Given the description of an element on the screen output the (x, y) to click on. 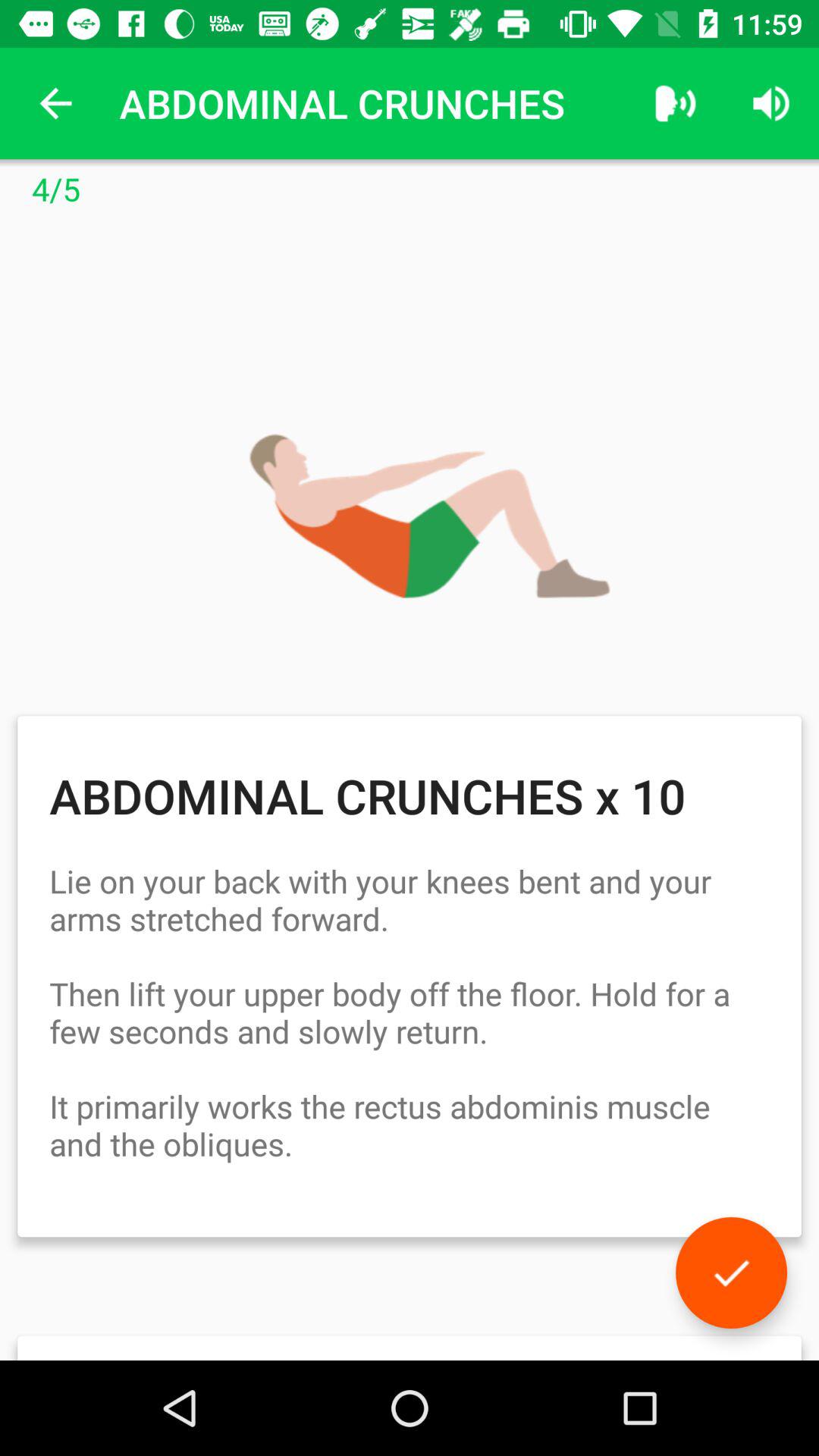
open icon at the top left corner (55, 103)
